Given the description of an element on the screen output the (x, y) to click on. 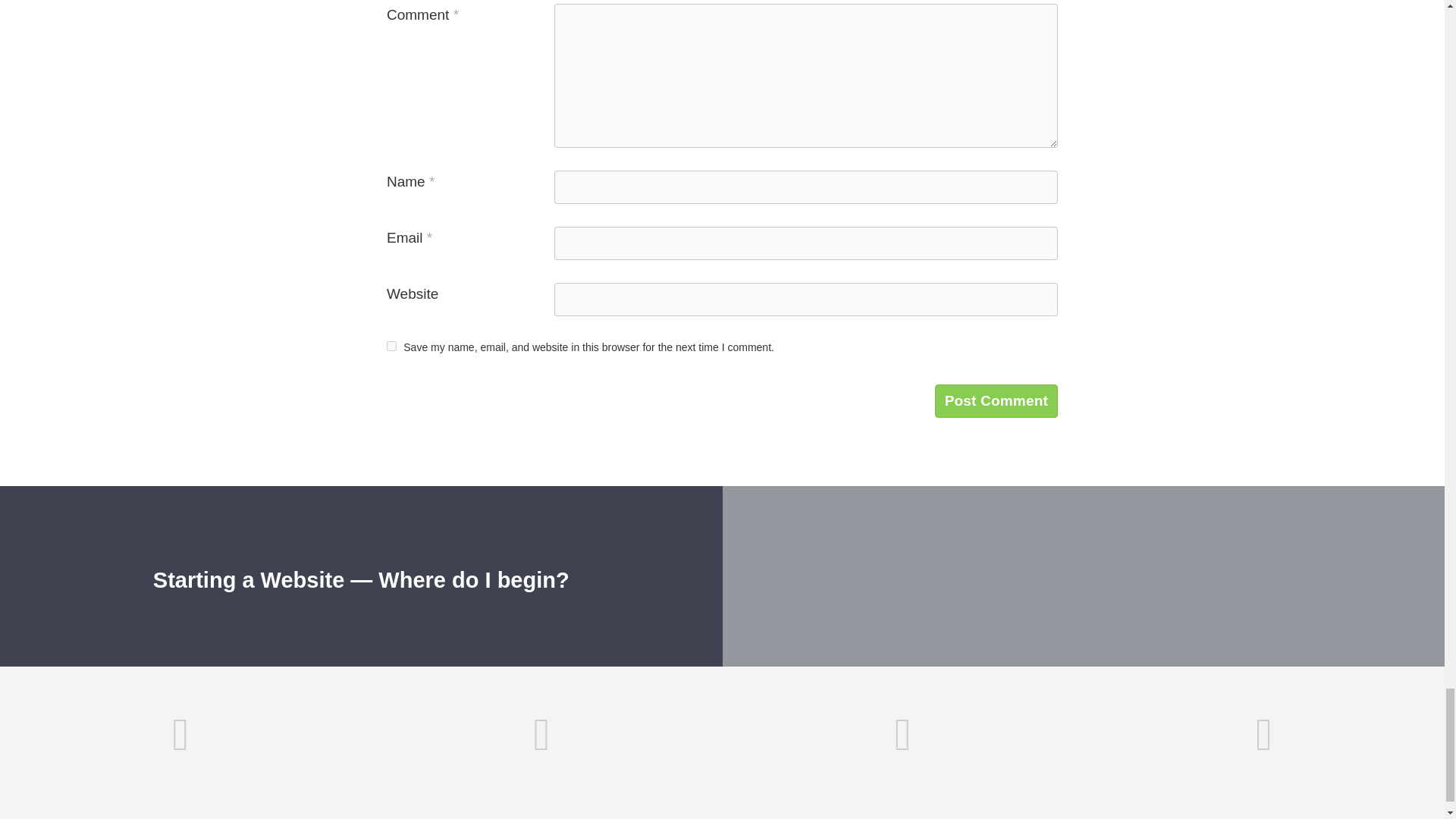
Post Comment (996, 400)
Post Comment (996, 400)
yes (391, 346)
